Given the description of an element on the screen output the (x, y) to click on. 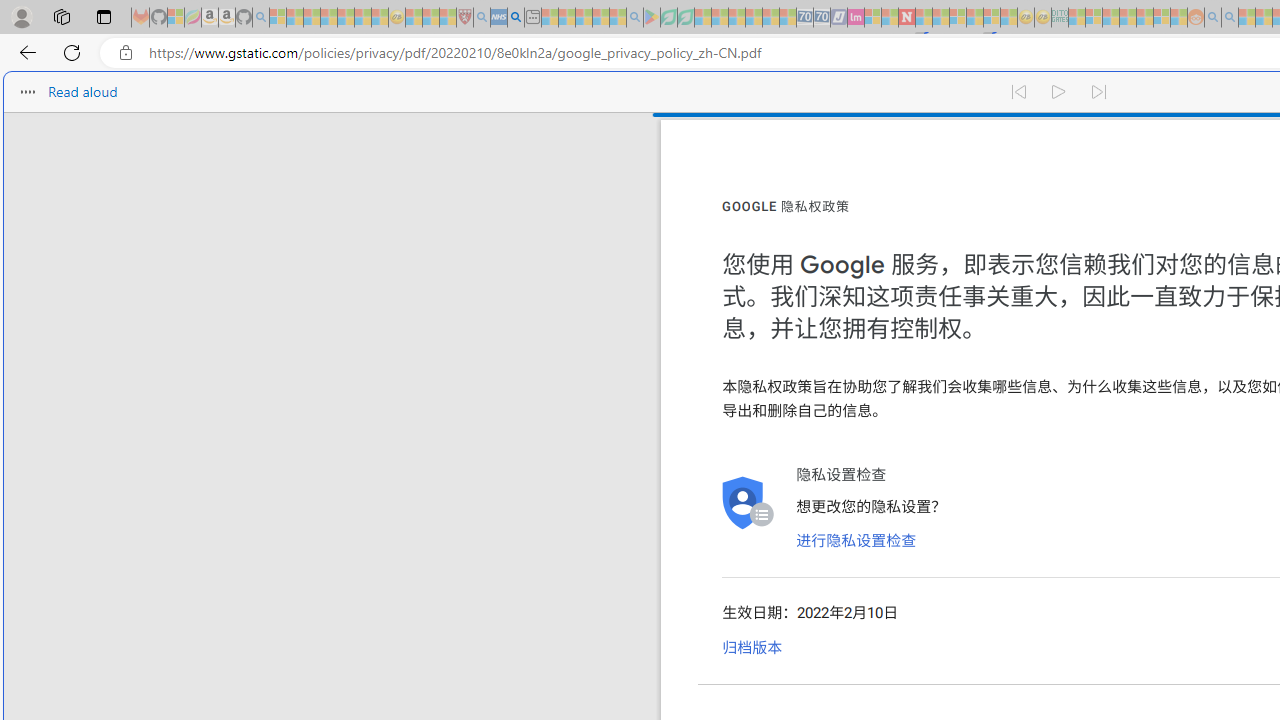
Read previous paragraph (1018, 92)
